Given the description of an element on the screen output the (x, y) to click on. 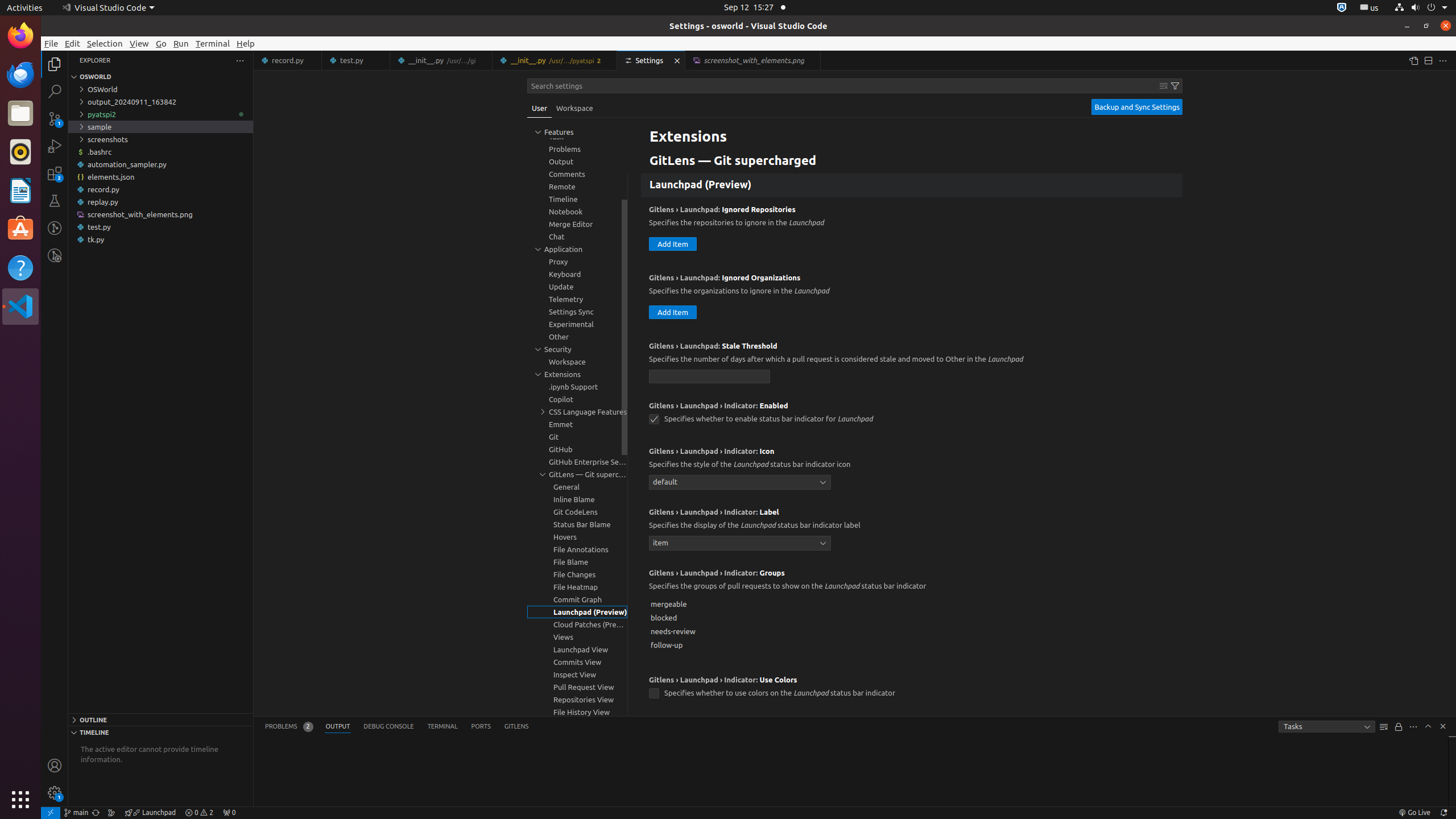
Problems (Ctrl+Shift+M) - Total 2 Problems Element type: page-tab (288, 726)
Go Element type: push-button (161, 43)
gitlens.launchpad.indicator.useColors Element type: check-box (653, 693)
Gitlens › Launchpad Ignored Repositories. Specifies the repositories to ignore in the Launchpad  Element type: tree-item (911, 231)
Cloud Patches (Preview), group Element type: tree-item (577, 624)
